Given the description of an element on the screen output the (x, y) to click on. 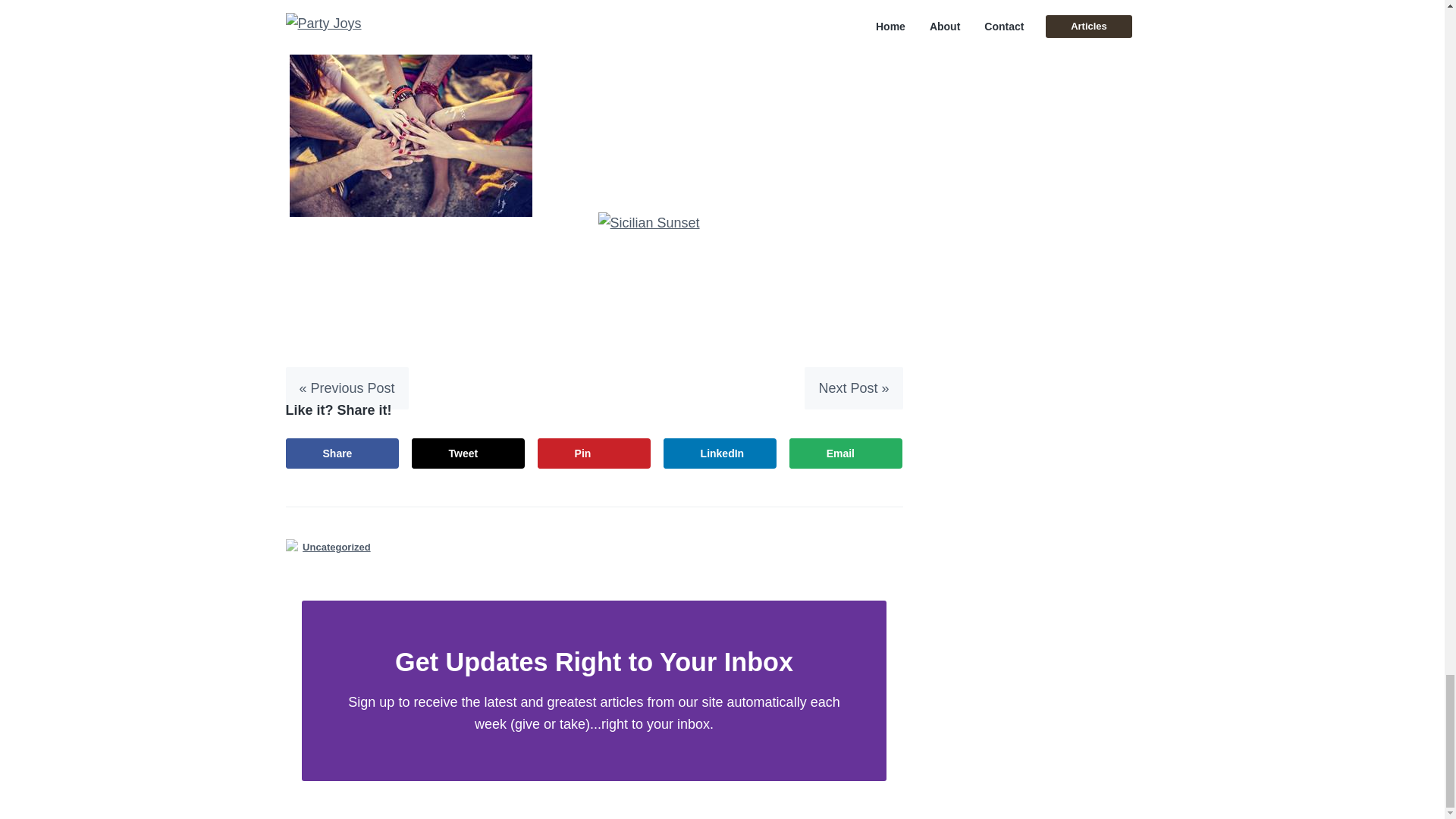
Send over email (845, 453)
Tweet (468, 453)
Share on X (468, 453)
Pin (593, 453)
Share on Facebook (341, 453)
Share on LinkedIn (720, 453)
LinkedIn (720, 453)
Save to Pinterest (593, 453)
Uncategorized (336, 546)
Email (845, 453)
